Given the description of an element on the screen output the (x, y) to click on. 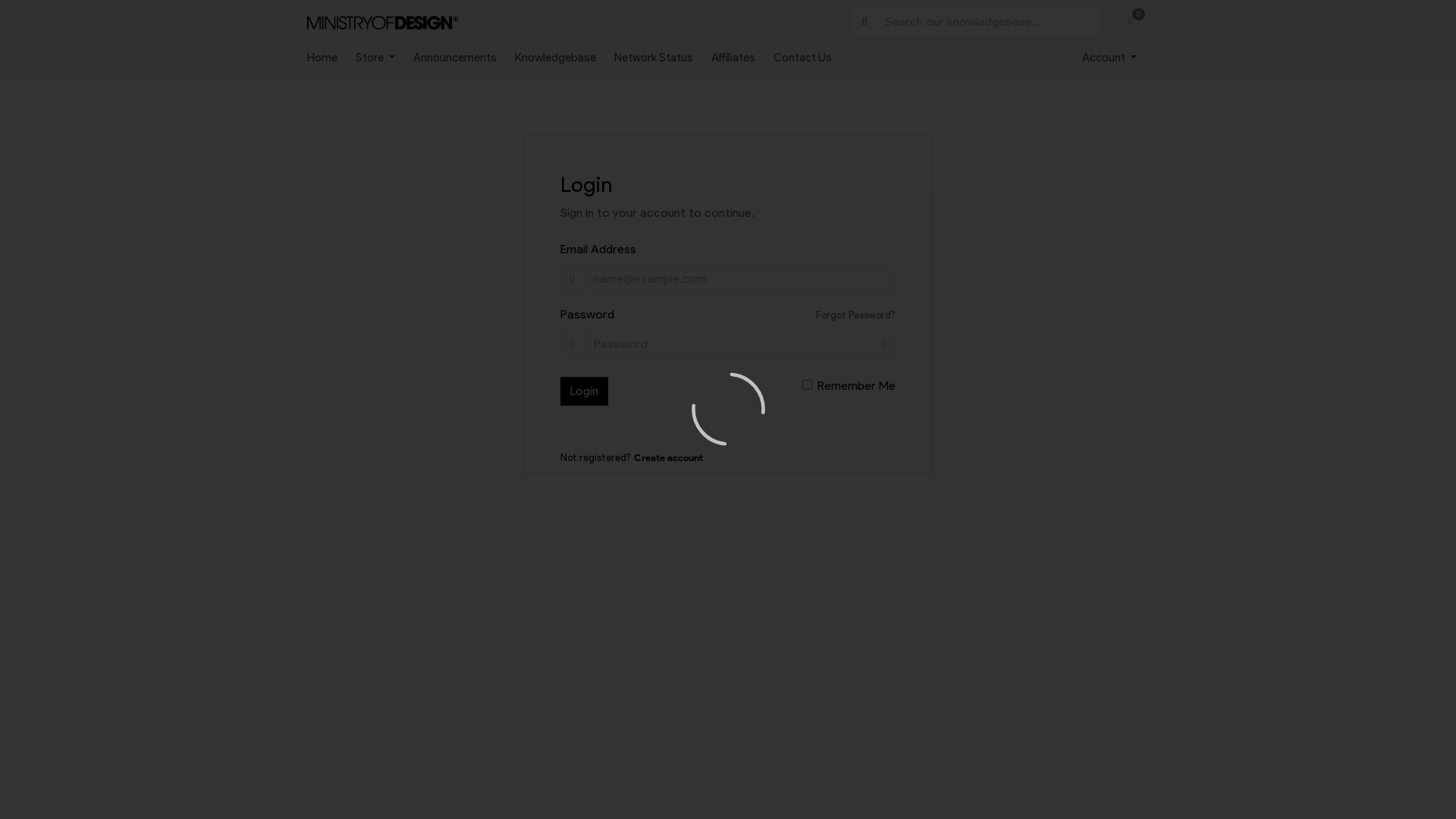
0
Shopping Cart Element type: text (1129, 20)
Login Element type: text (584, 390)
Network Status Element type: text (662, 57)
Account Element type: text (1109, 57)
Affiliates Element type: text (742, 57)
Home Element type: text (331, 57)
Knowledgebase Element type: text (564, 57)
Store Element type: text (384, 57)
Announcements Element type: text (463, 57)
Create account Element type: text (667, 457)
Contact Us Element type: text (811, 57)
Forgot Password? Element type: text (855, 314)
